Given the description of an element on the screen output the (x, y) to click on. 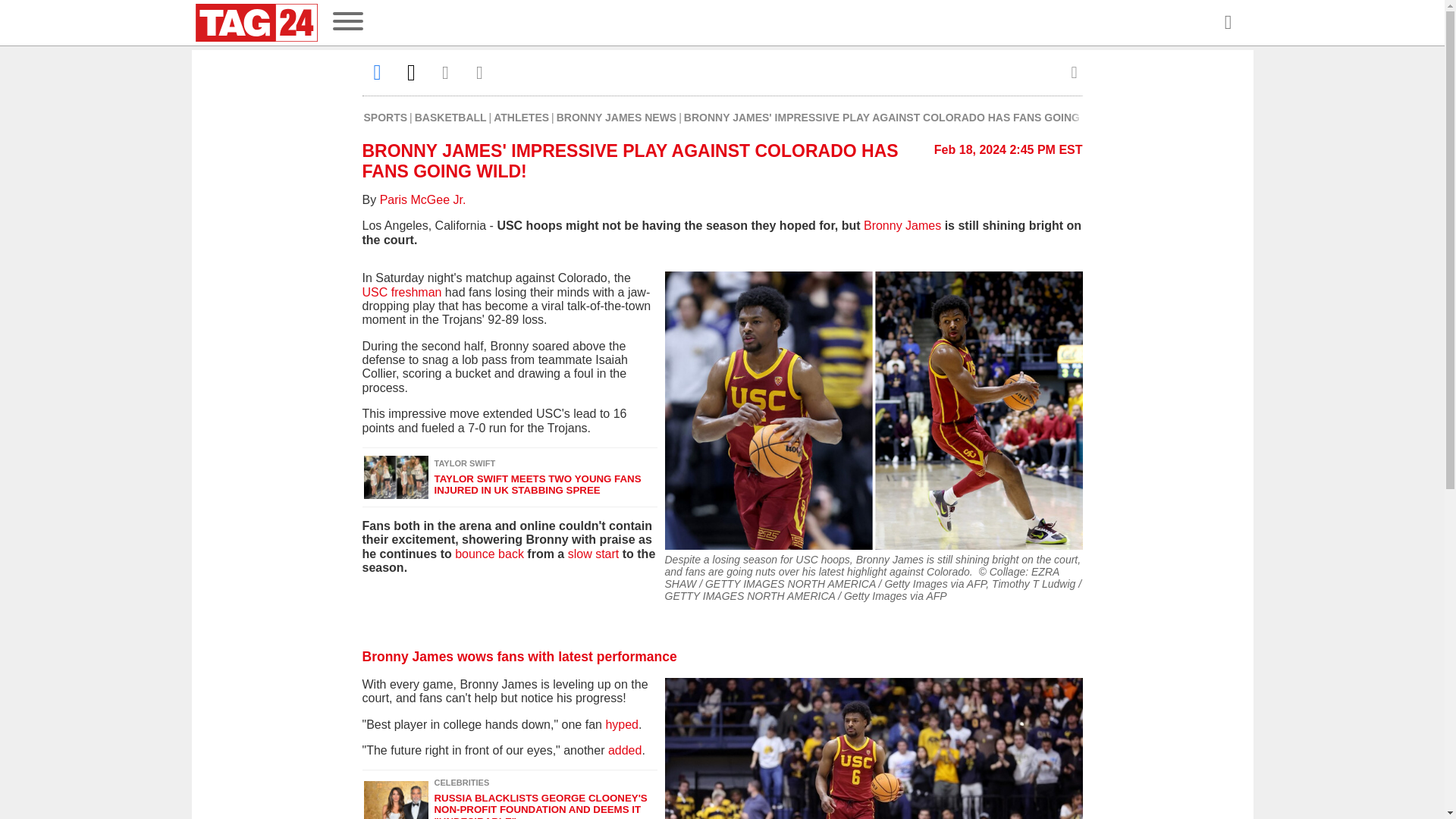
ATHLETES (520, 117)
Share on Facebook (377, 72)
Open search (1227, 22)
BASKETBALL (450, 117)
menu (347, 22)
USC freshman (402, 291)
hyped (622, 724)
SPORTS (385, 117)
Copy link (479, 72)
